Given the description of an element on the screen output the (x, y) to click on. 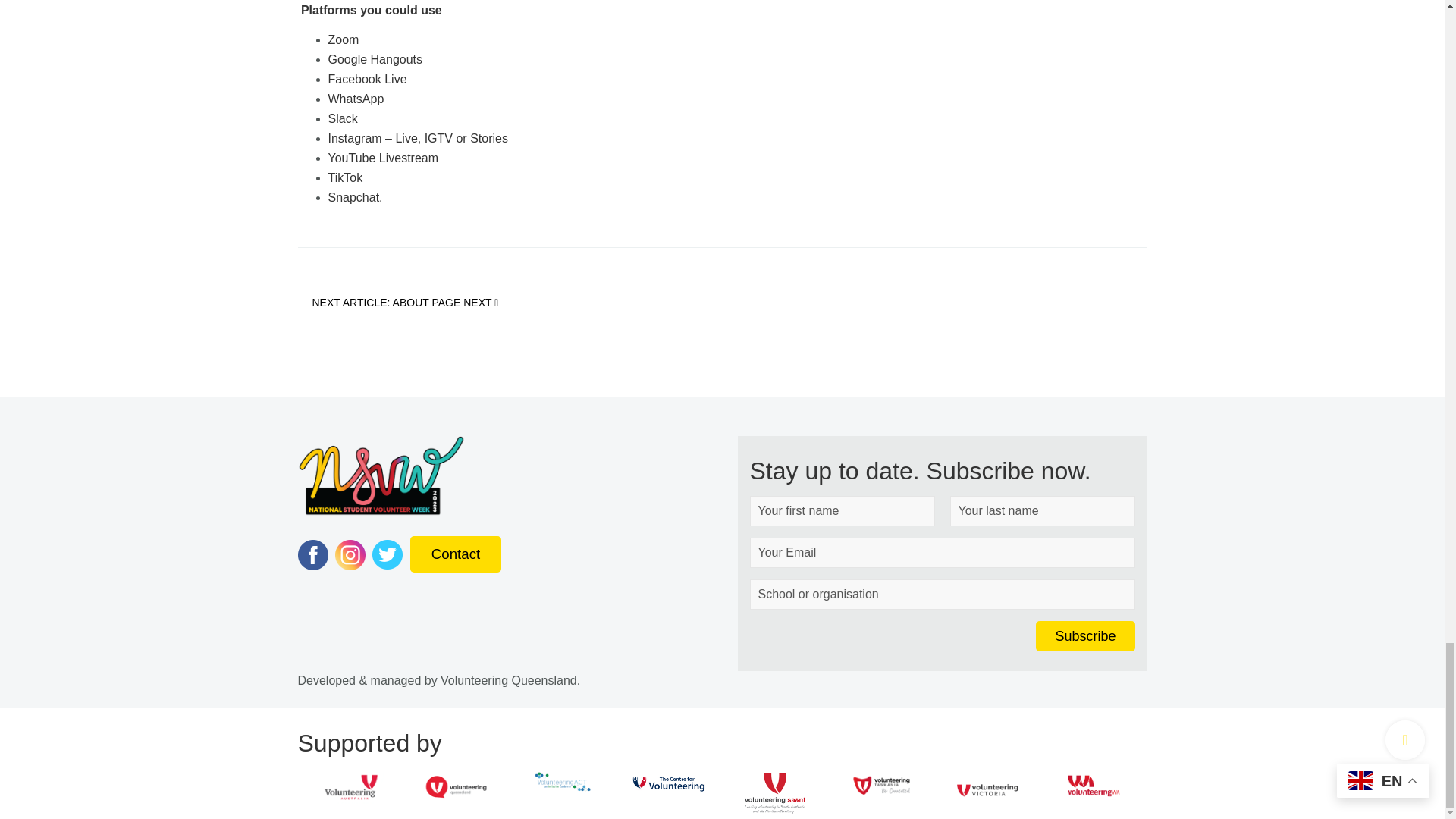
Volunteering WA (1093, 785)
Volunteering Queensland (457, 786)
Volunteering ACT (561, 780)
Volunteering Victoria (987, 789)
Volunteering Tasmania (880, 784)
Volunteering Australia (350, 786)
Talk to us (455, 554)
